Given the description of an element on the screen output the (x, y) to click on. 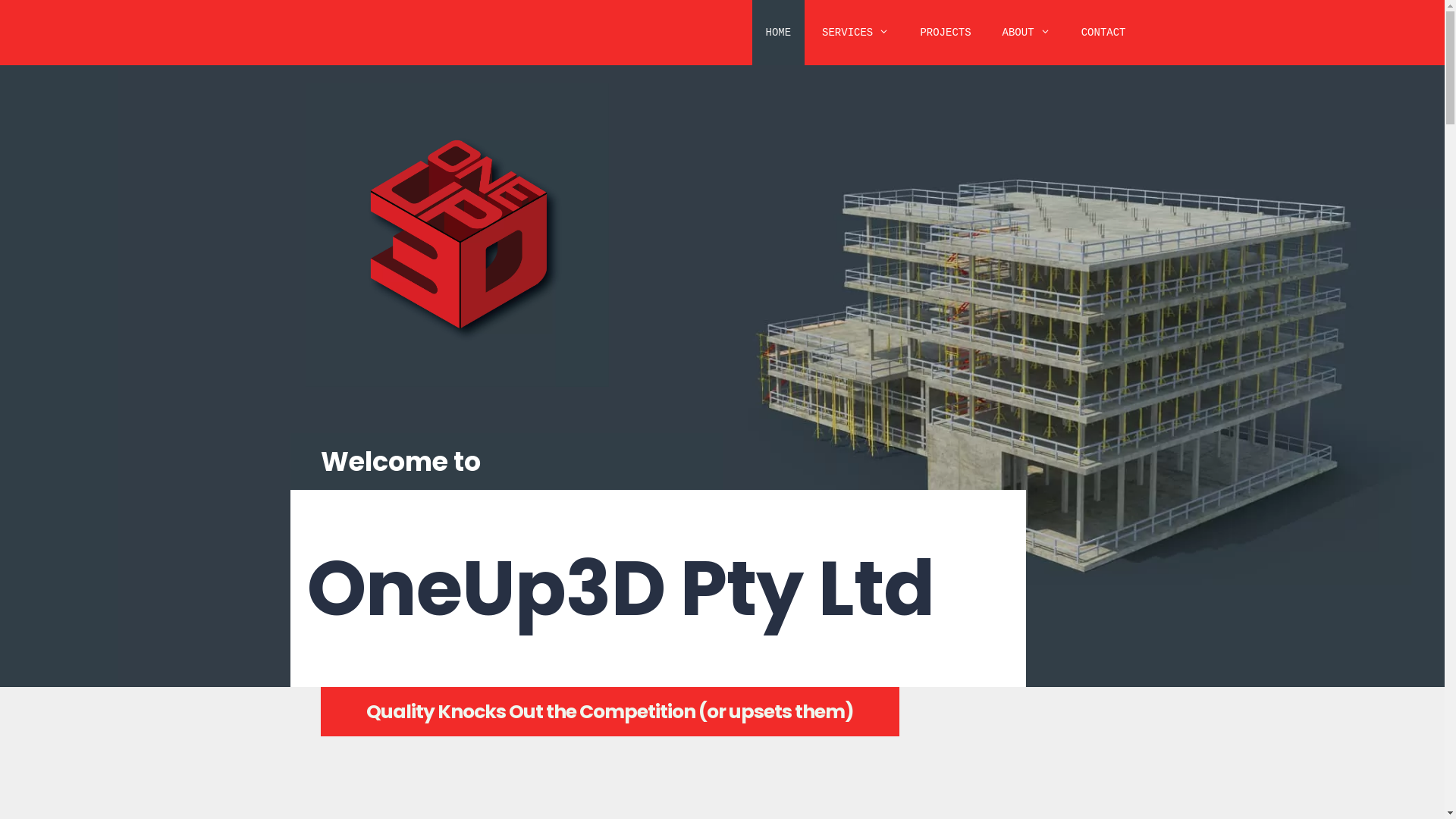
CONTACT Element type: text (1103, 32)
Quality Knocks Out the Competition (or upsets them) Element type: text (609, 711)
SERVICES Element type: text (855, 32)
PROJECTS Element type: text (945, 32)
One Up 3D Element type: hover (456, 234)
ABOUT Element type: text (1025, 32)
HOME Element type: text (778, 32)
